Given the description of an element on the screen output the (x, y) to click on. 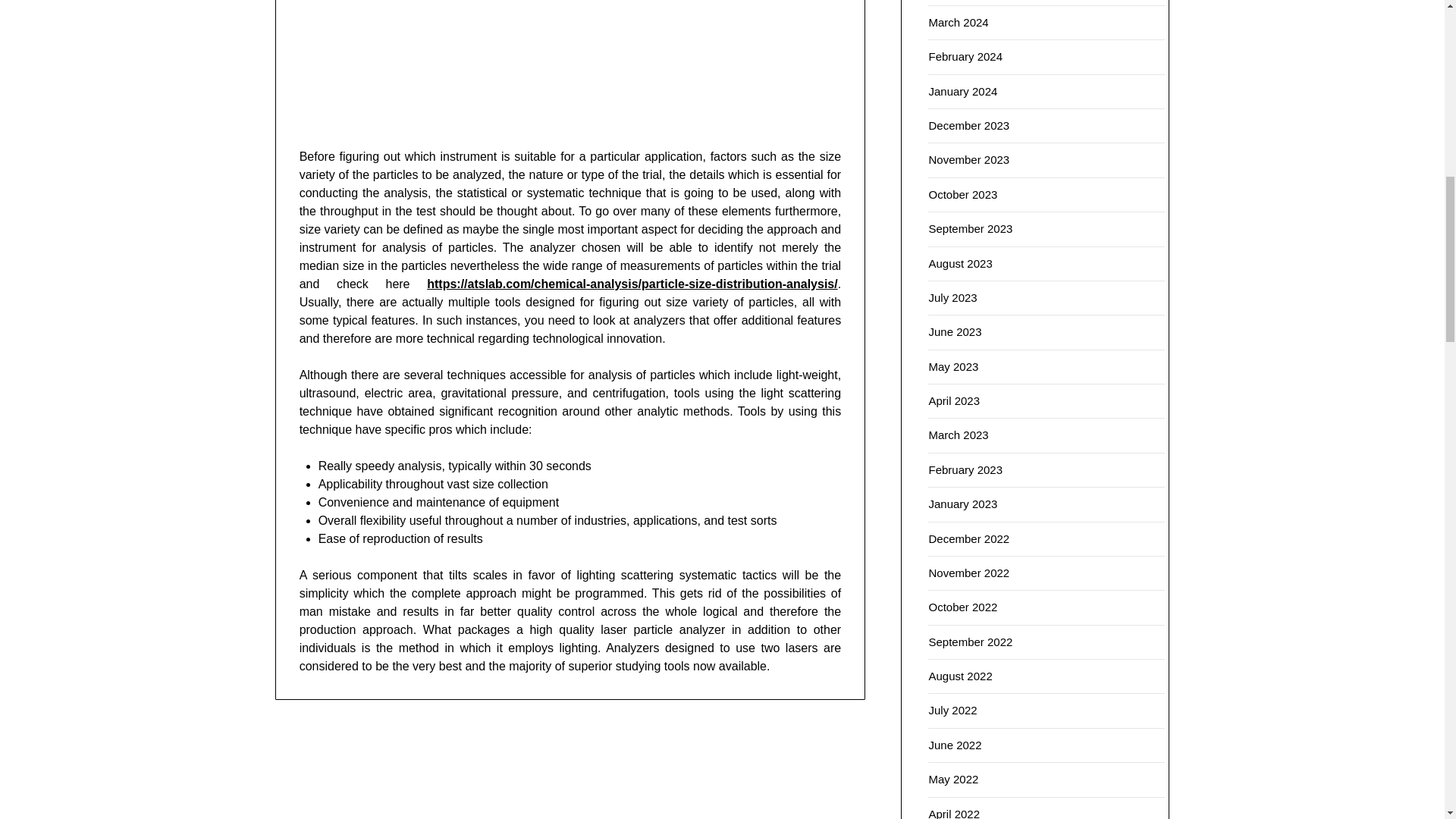
November 2022 (968, 572)
March 2023 (958, 434)
September 2023 (969, 228)
June 2023 (954, 331)
May 2022 (953, 779)
July 2023 (952, 297)
August 2022 (959, 675)
October 2022 (962, 606)
August 2023 (959, 263)
March 2024 (958, 21)
September 2022 (969, 641)
October 2023 (962, 194)
May 2023 (953, 366)
January 2023 (962, 503)
June 2022 (954, 744)
